Given the description of an element on the screen output the (x, y) to click on. 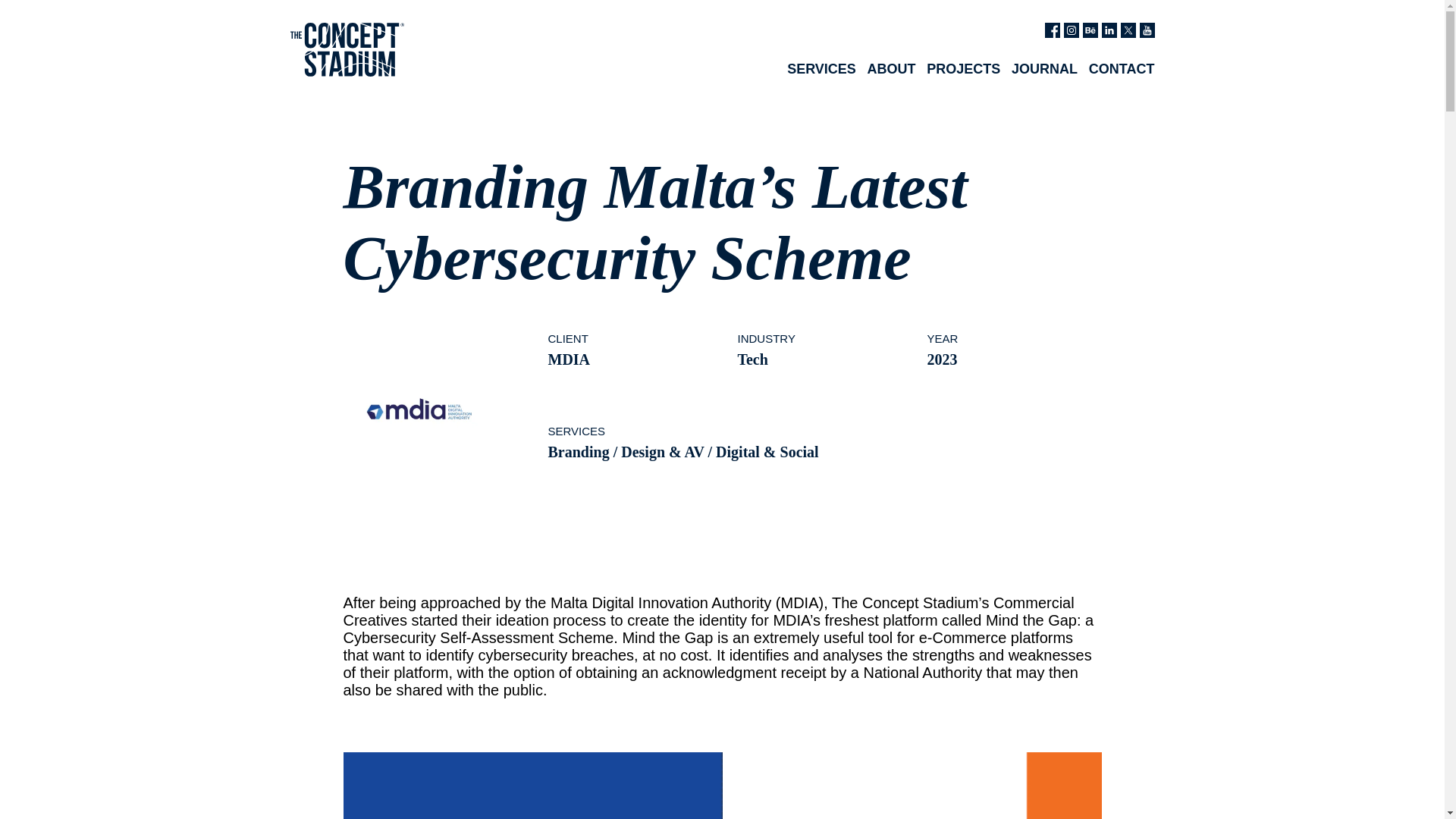
JOURNAL (1044, 68)
The Concept Stadium logo rgb Black (346, 49)
ABOUT (891, 68)
PROJECTS (963, 68)
SERVICES (821, 68)
Branding (577, 451)
The Concept Stadium logo rgb Black (346, 72)
CONTACT (1121, 68)
